Given the description of an element on the screen output the (x, y) to click on. 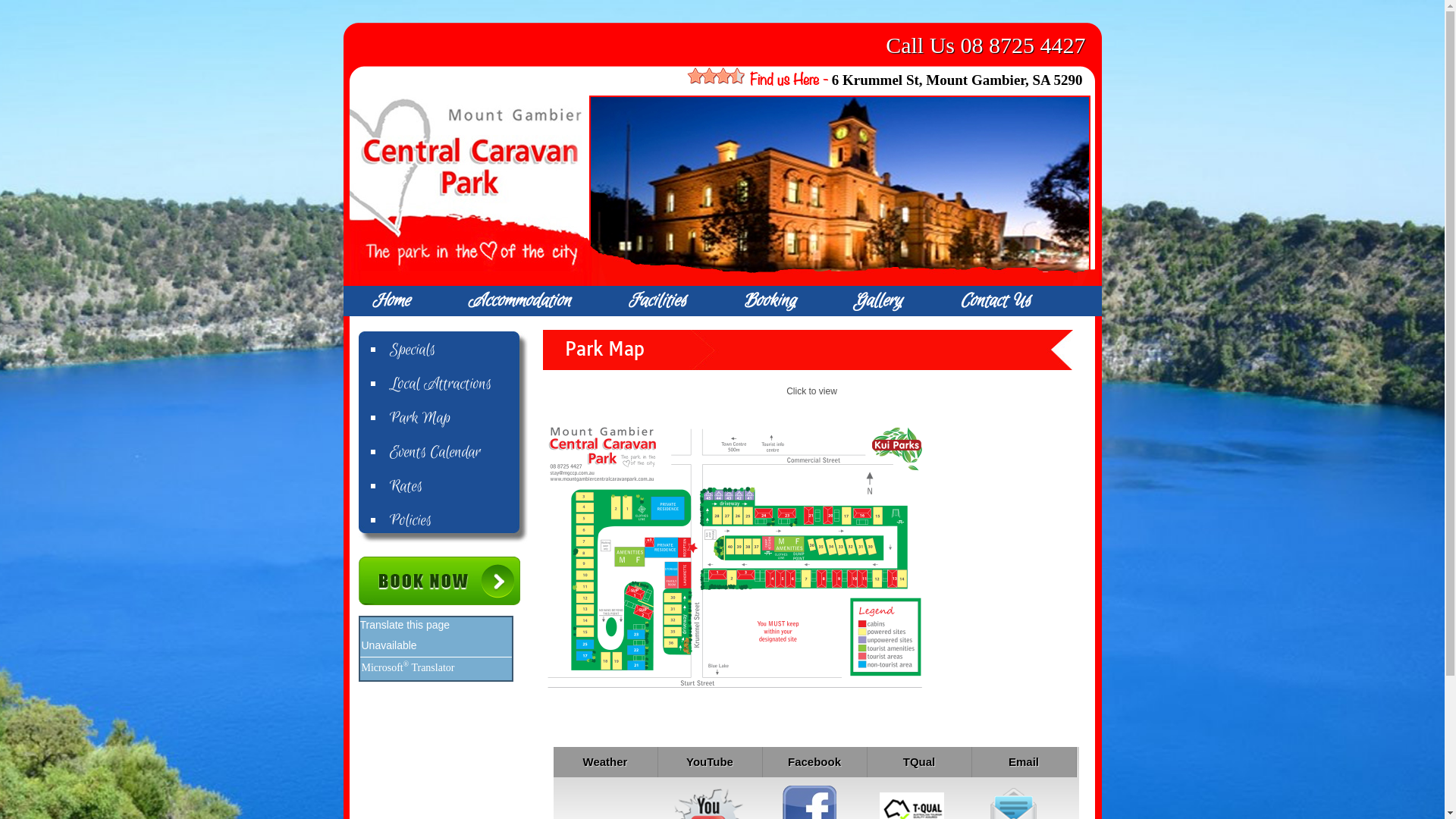
Booking Element type: text (769, 300)
Accommodation Element type: text (518, 300)
Rates Element type: text (458, 486)
Contact Us Element type: text (995, 300)
Local Attractions Element type: text (458, 384)
Facilities Element type: text (656, 300)
Policies Element type: text (458, 520)
Unavailable Element type: text (388, 645)
Gallery Element type: text (878, 300)
Park Map Element type: text (458, 418)
Home Element type: text (390, 300)
Events Calendar Element type: text (458, 452)
Specials Element type: text (458, 350)
